Given the description of an element on the screen output the (x, y) to click on. 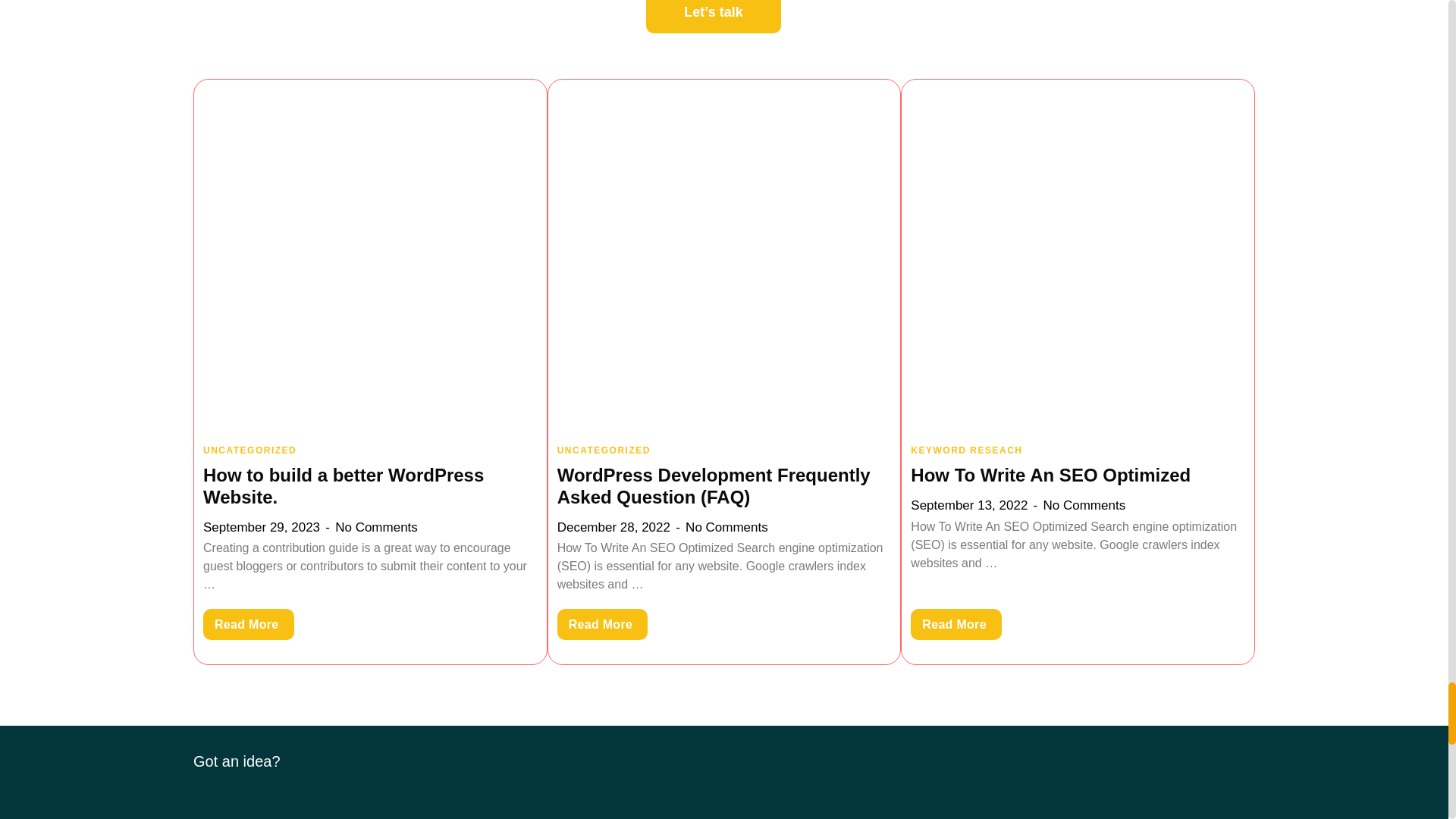
KEYWORD RESEACH (966, 450)
How To Write An SEO Optimized (1077, 255)
UNCATEGORIZED (250, 450)
Read More (602, 624)
Read More (248, 624)
UNCATEGORIZED (603, 450)
How To Write An SEO Optimized (1051, 475)
How To Write An SEO Optimized (956, 624)
How to build a better WordPress Website. (370, 255)
How to build a better WordPress Website. (248, 624)
How to build a better WordPress Website. (343, 485)
